Given the description of an element on the screen output the (x, y) to click on. 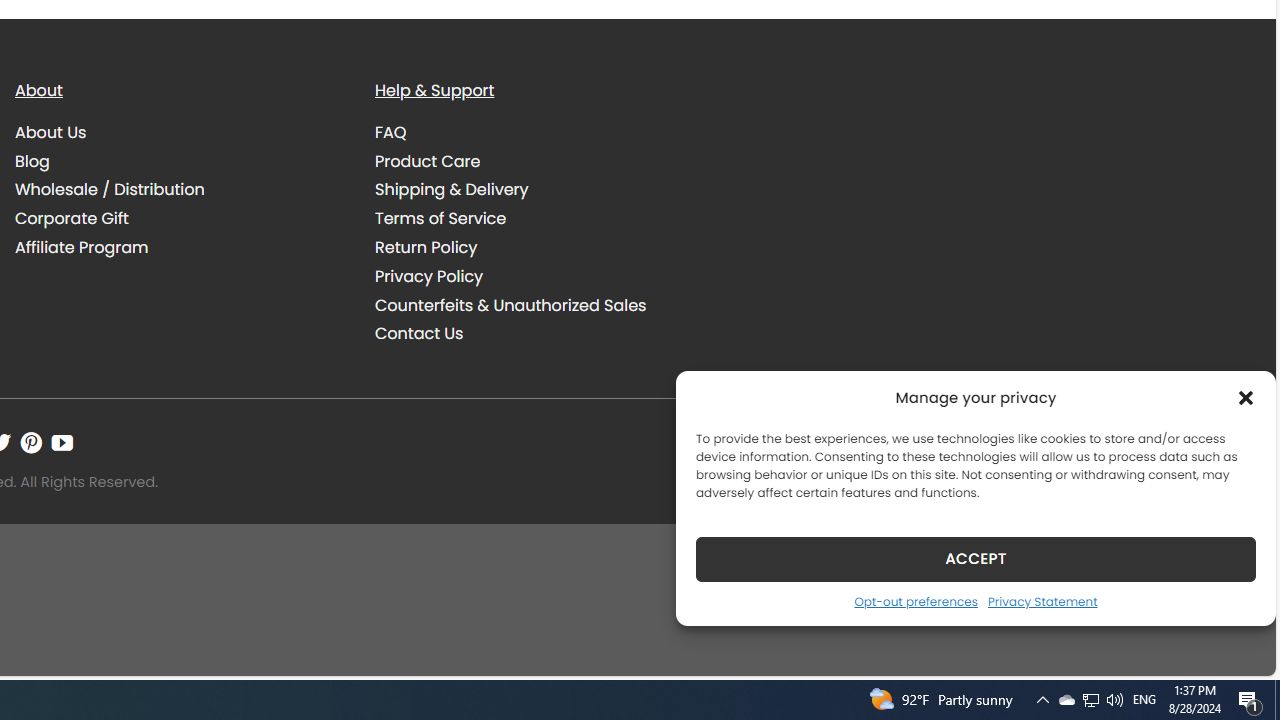
Corporate Gift (72, 219)
FAQ (391, 132)
Contact Us (540, 334)
FAQ (540, 132)
Product Care (428, 160)
Privacy Policy (540, 276)
Blog (32, 160)
Go to top (1234, 647)
Terms of Service (540, 218)
Privacy Statement (1042, 601)
Contact Us (419, 333)
About Us (180, 132)
Return Policy (426, 247)
Affiliate Program (81, 247)
Shipping & Delivery (451, 189)
